Given the description of an element on the screen output the (x, y) to click on. 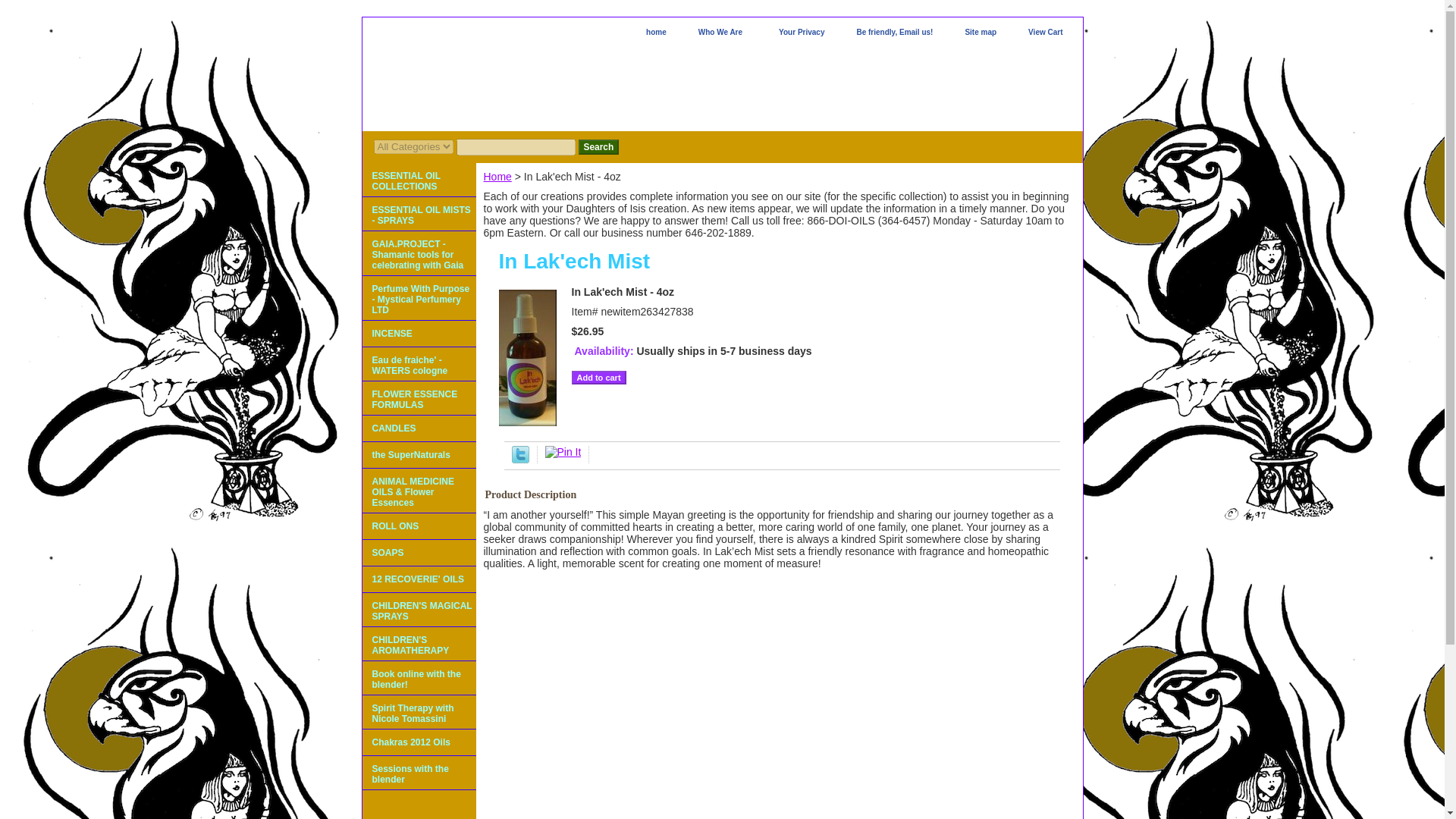
12 RECOVERIE' OILS (419, 579)
ROLL ONS (419, 526)
View Cart (1044, 32)
Add to cart (599, 377)
Spirit Therapy with Nicole Tomassini (419, 712)
ESSENTIAL OIL MISTS - SPRAYS (419, 213)
CANDLES  (419, 428)
Search (598, 146)
SOAPS (419, 552)
CHILDREN'S MAGICAL SPRAYS (419, 609)
Add to cart (599, 377)
ESSENTIAL OIL MISTS - SPRAYS (419, 213)
INCENSE (419, 334)
home (655, 32)
Eau de fraiche' - WATERS cologne (419, 364)
